Given the description of an element on the screen output the (x, y) to click on. 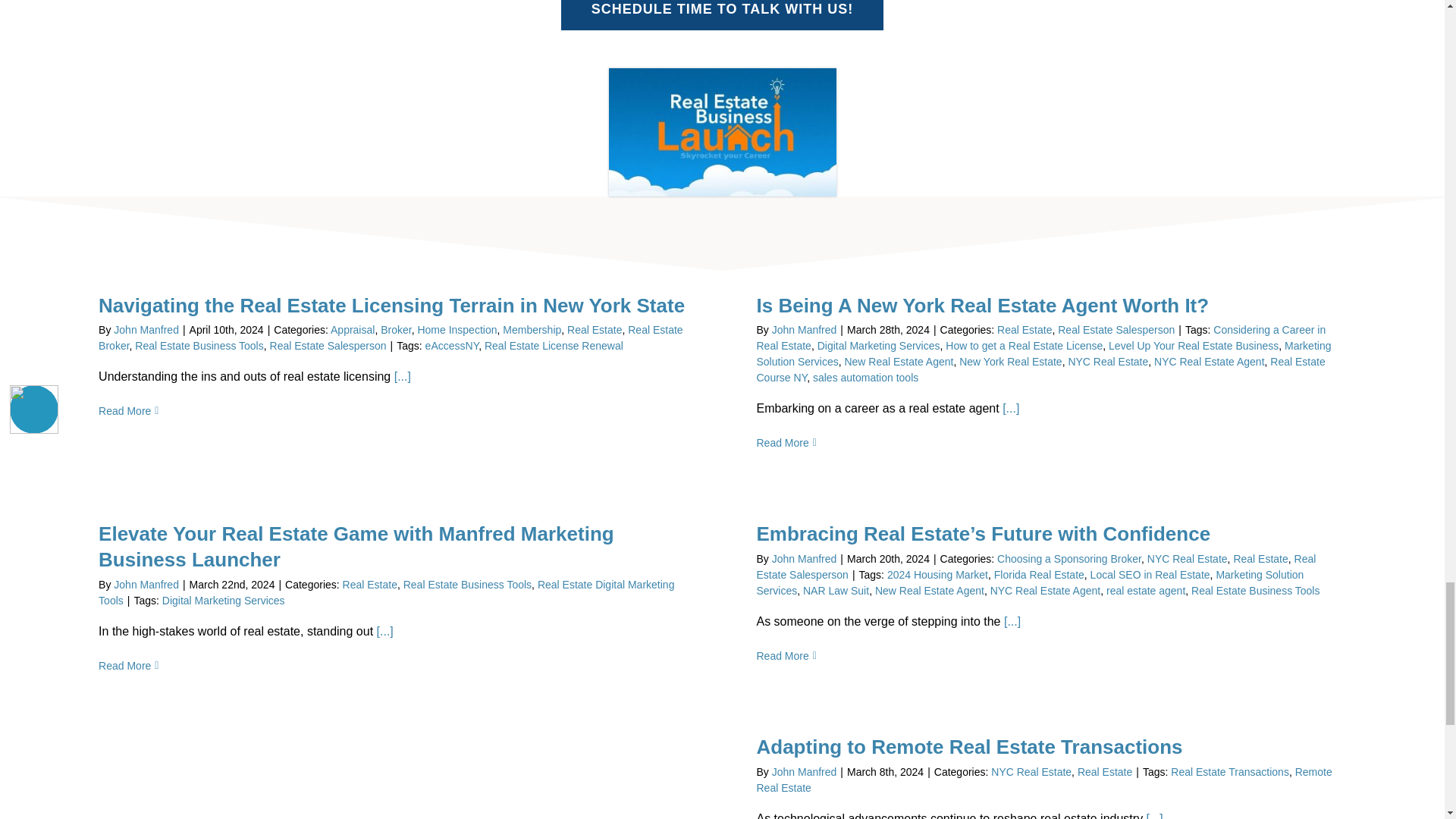
How Much Do Real Estate Agents Make in New York State (721, 73)
Posts by John Manfred (146, 329)
Posts by John Manfred (146, 584)
Posts by John Manfred (804, 329)
